Given the description of an element on the screen output the (x, y) to click on. 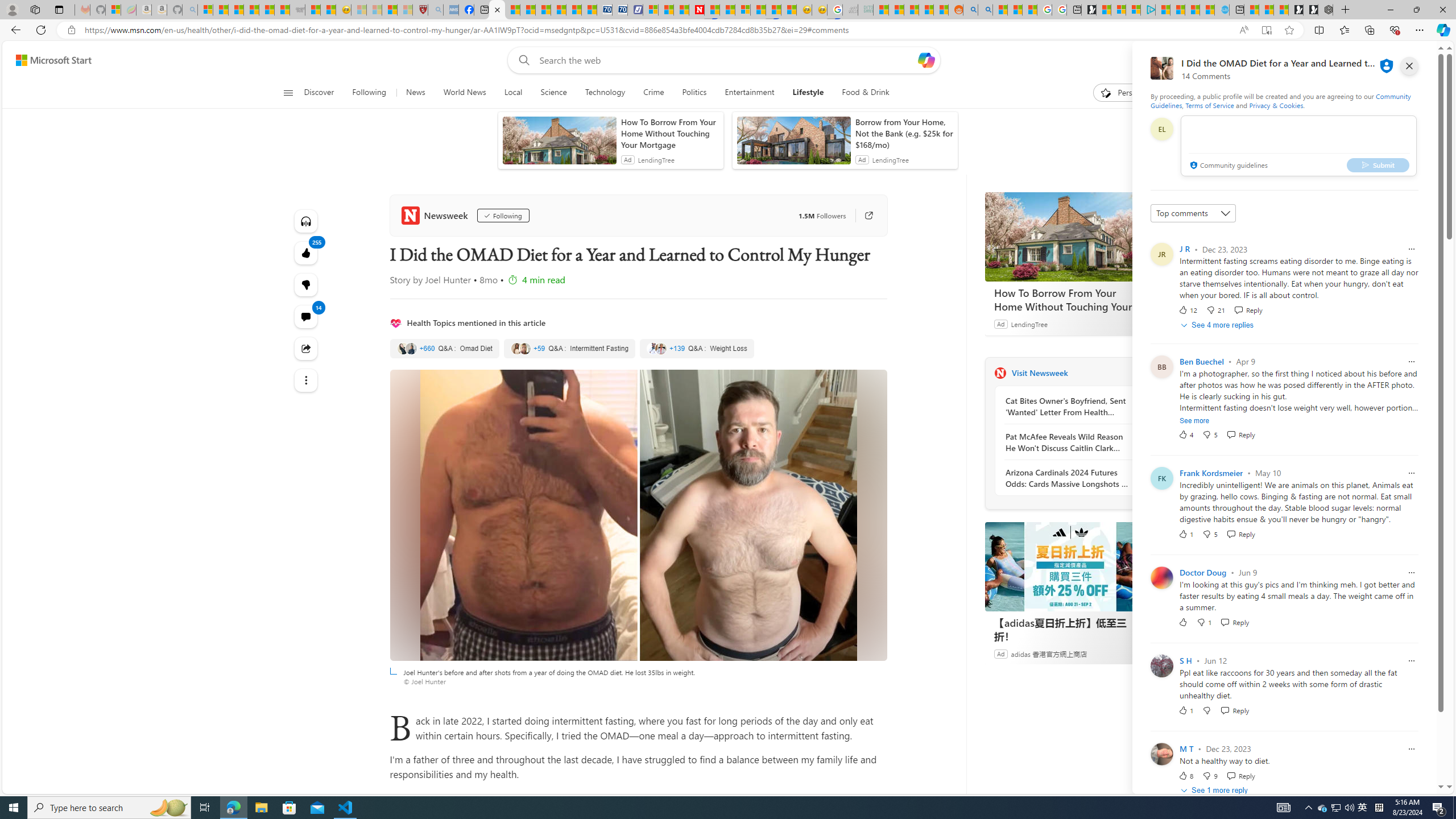
4 Like (1185, 434)
Weight Loss (696, 348)
Newsweek (1000, 372)
